Given the description of an element on the screen output the (x, y) to click on. 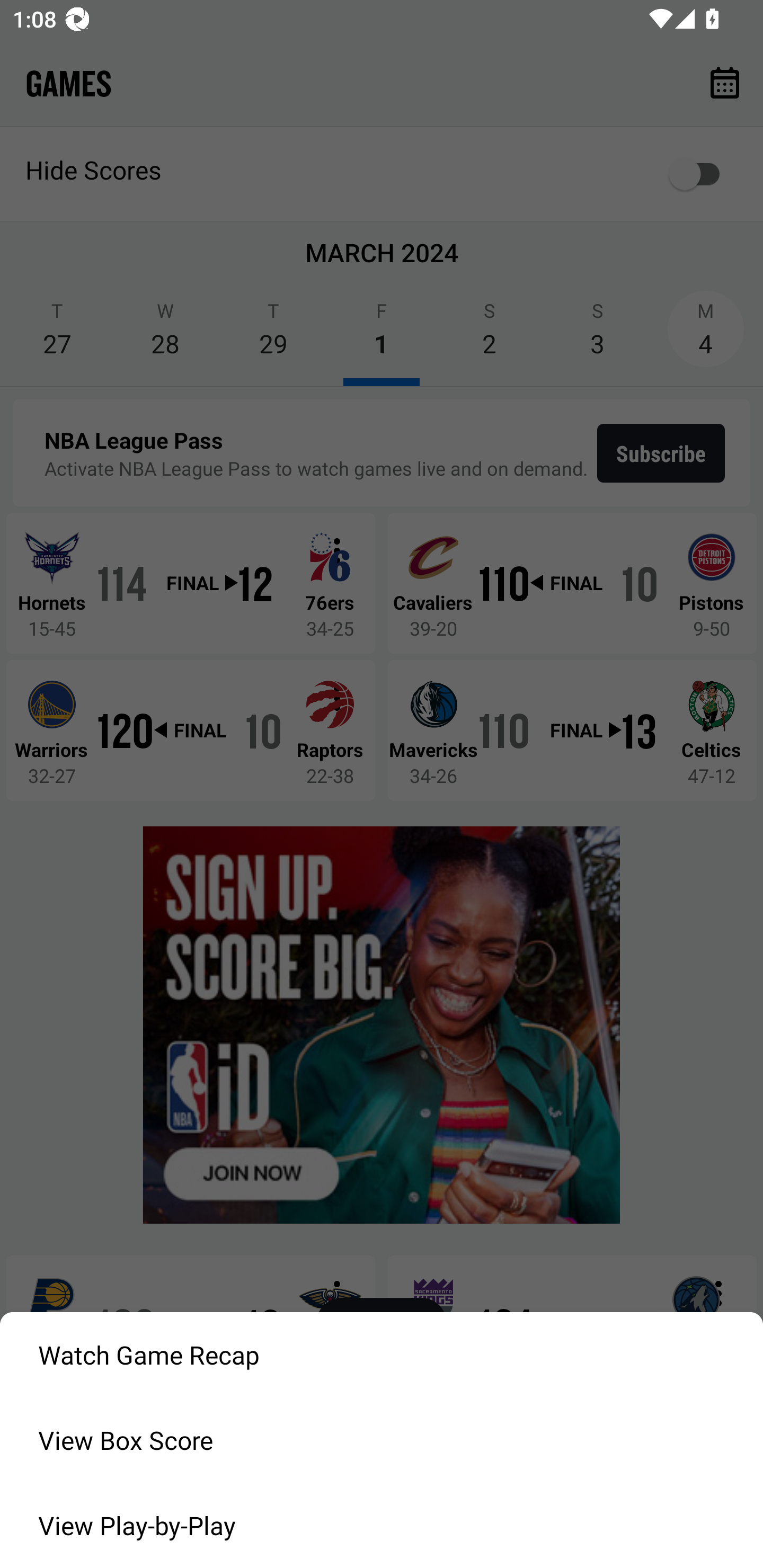
Watch Game Recap (381, 1354)
View Box Score (381, 1440)
View Play-by-Play (381, 1525)
